Given the description of an element on the screen output the (x, y) to click on. 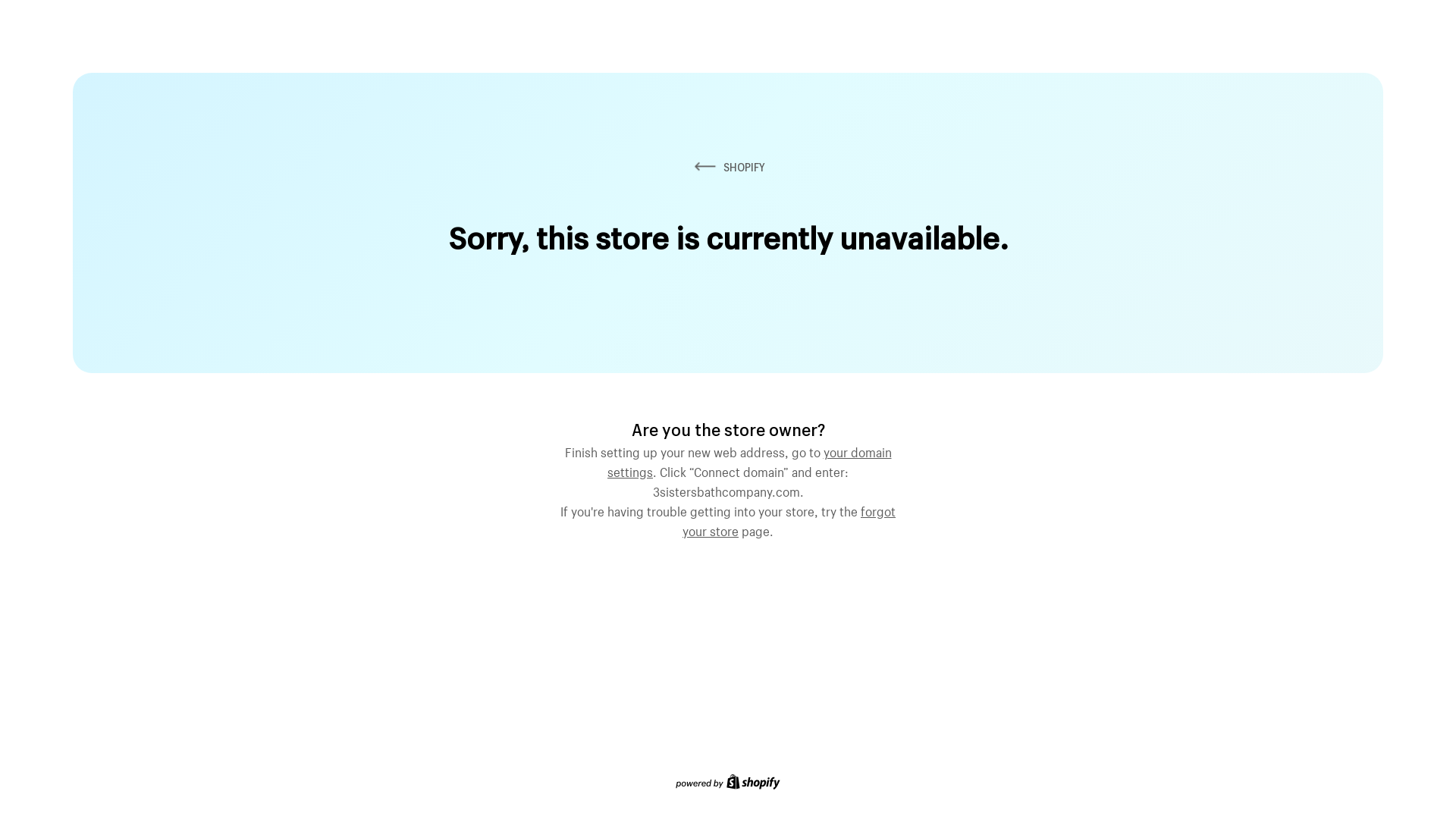
your domain settings Element type: text (749, 460)
SHOPIFY Element type: text (727, 167)
forgot your store Element type: text (788, 519)
